Given the description of an element on the screen output the (x, y) to click on. 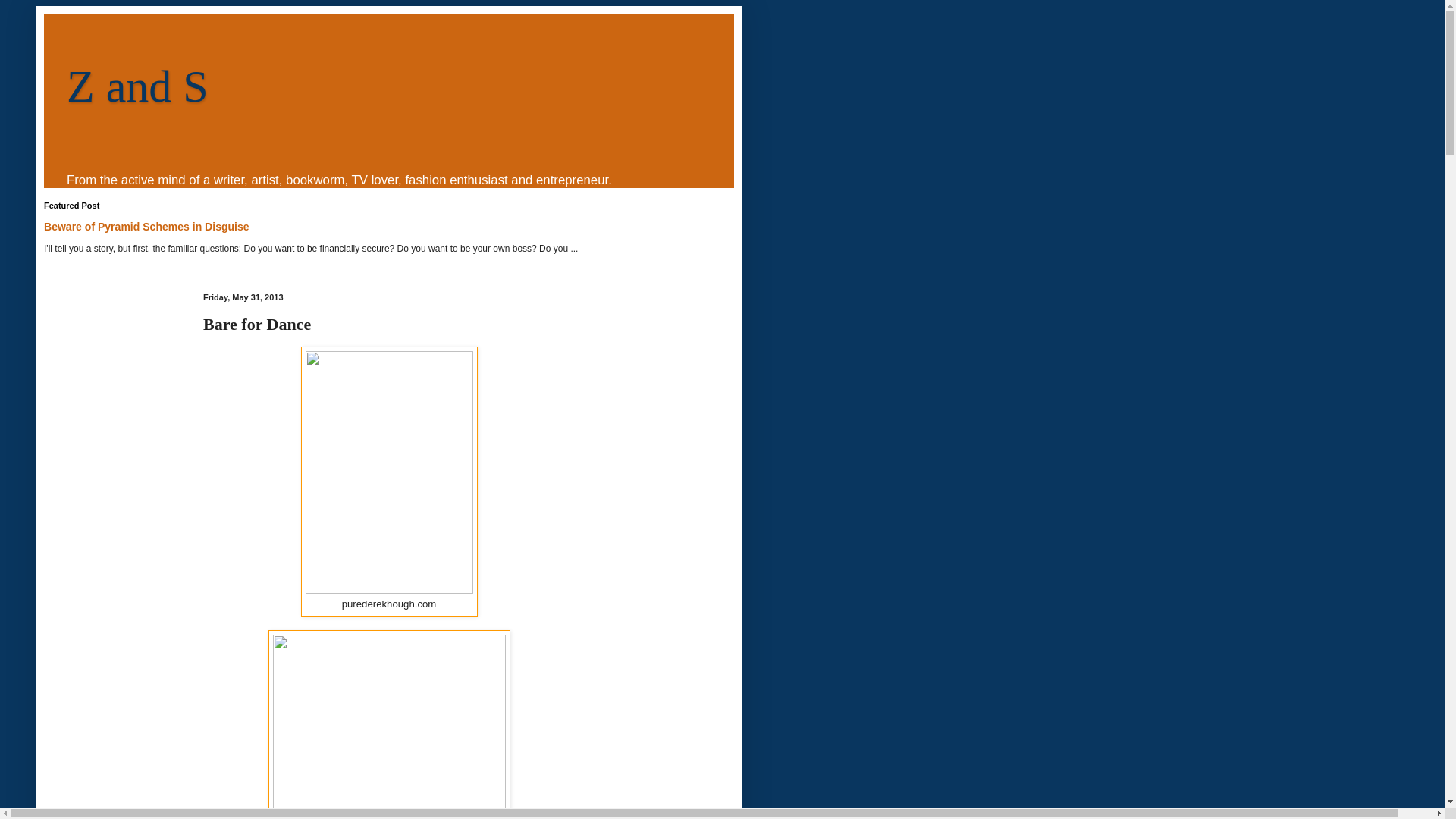
Z and S (137, 86)
Beware of Pyramid Schemes in Disguise (145, 226)
